Given the description of an element on the screen output the (x, y) to click on. 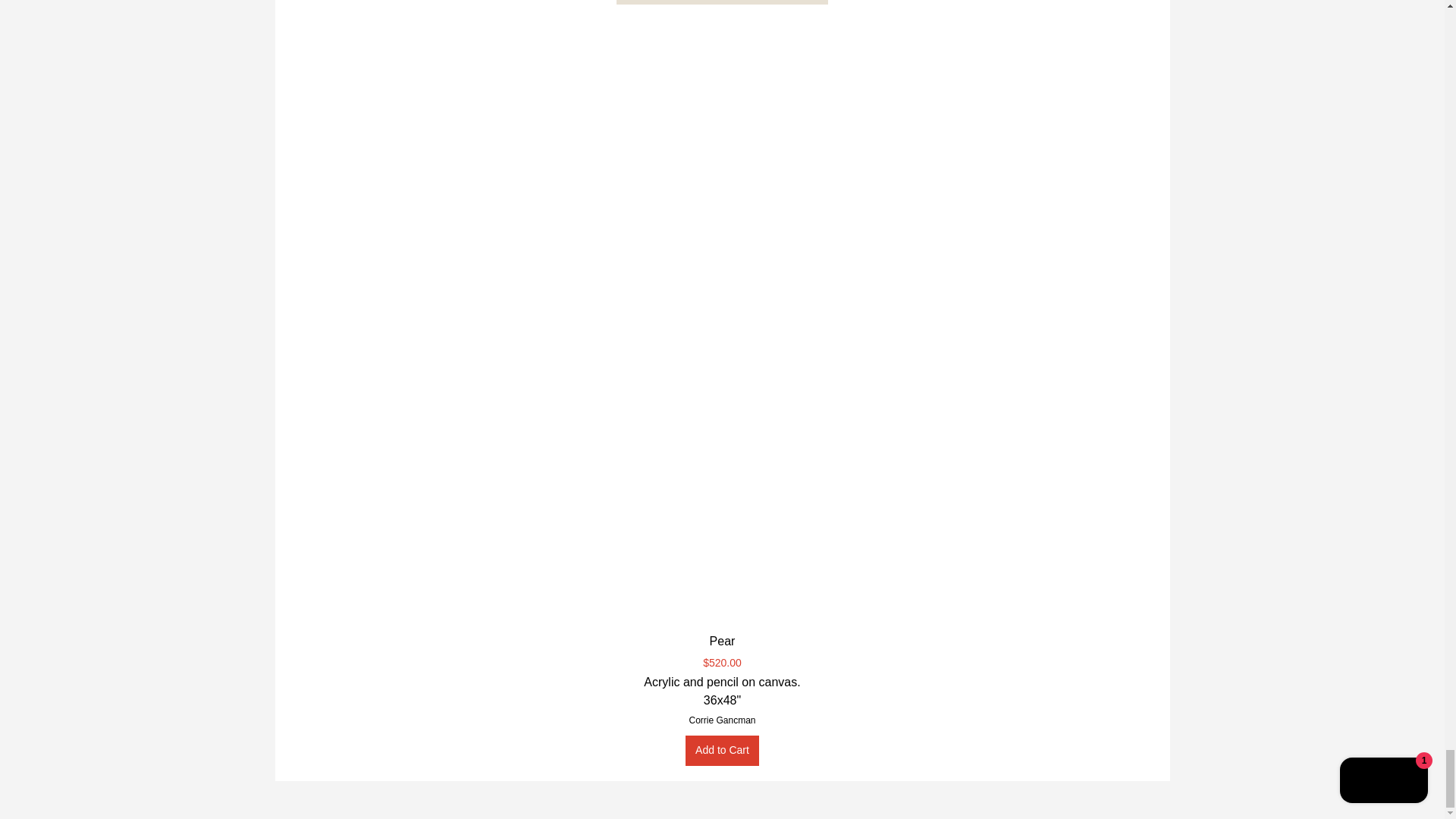
Add to Cart (721, 750)
